Given the description of an element on the screen output the (x, y) to click on. 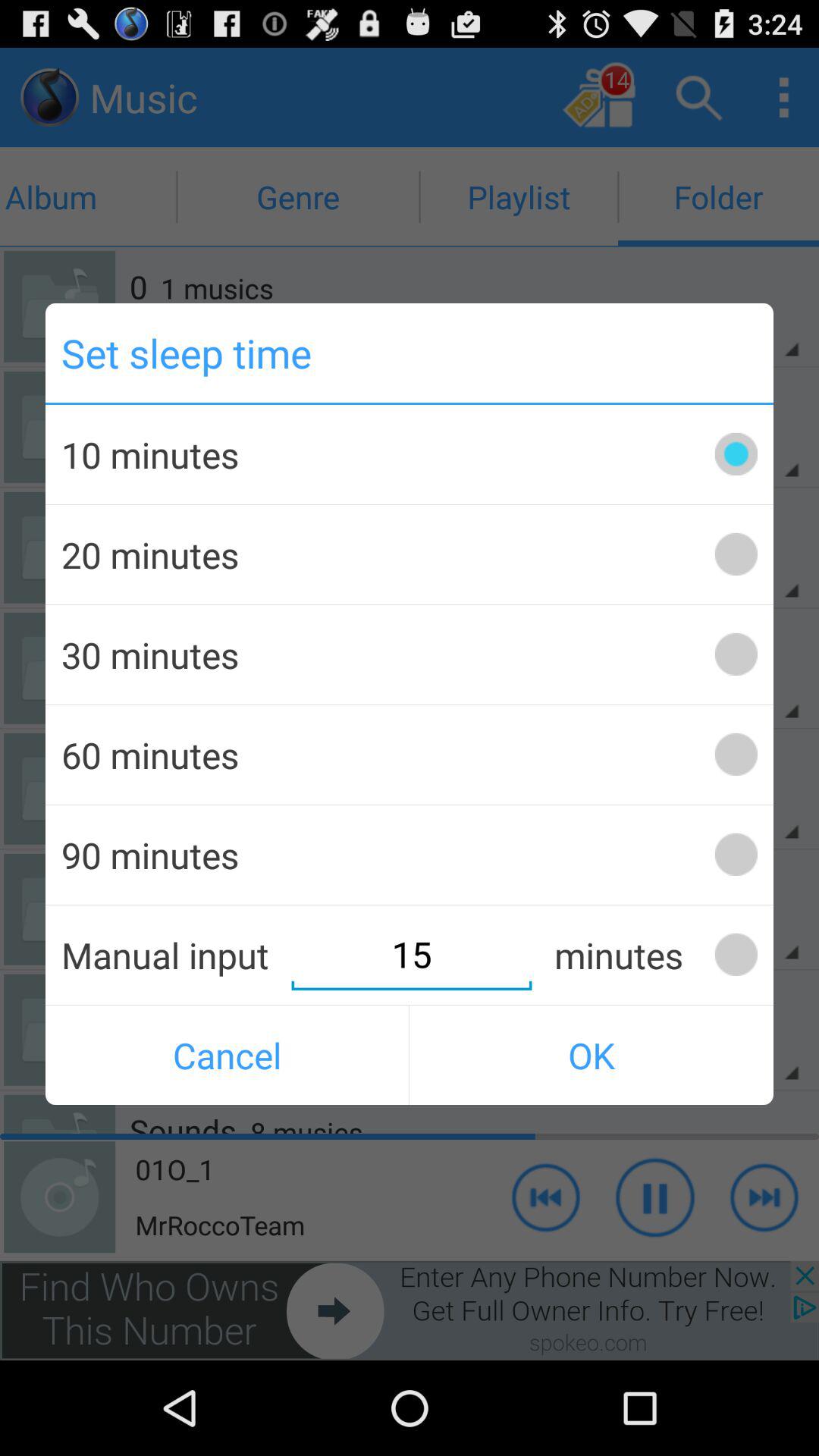
selection (735, 654)
